Given the description of an element on the screen output the (x, y) to click on. 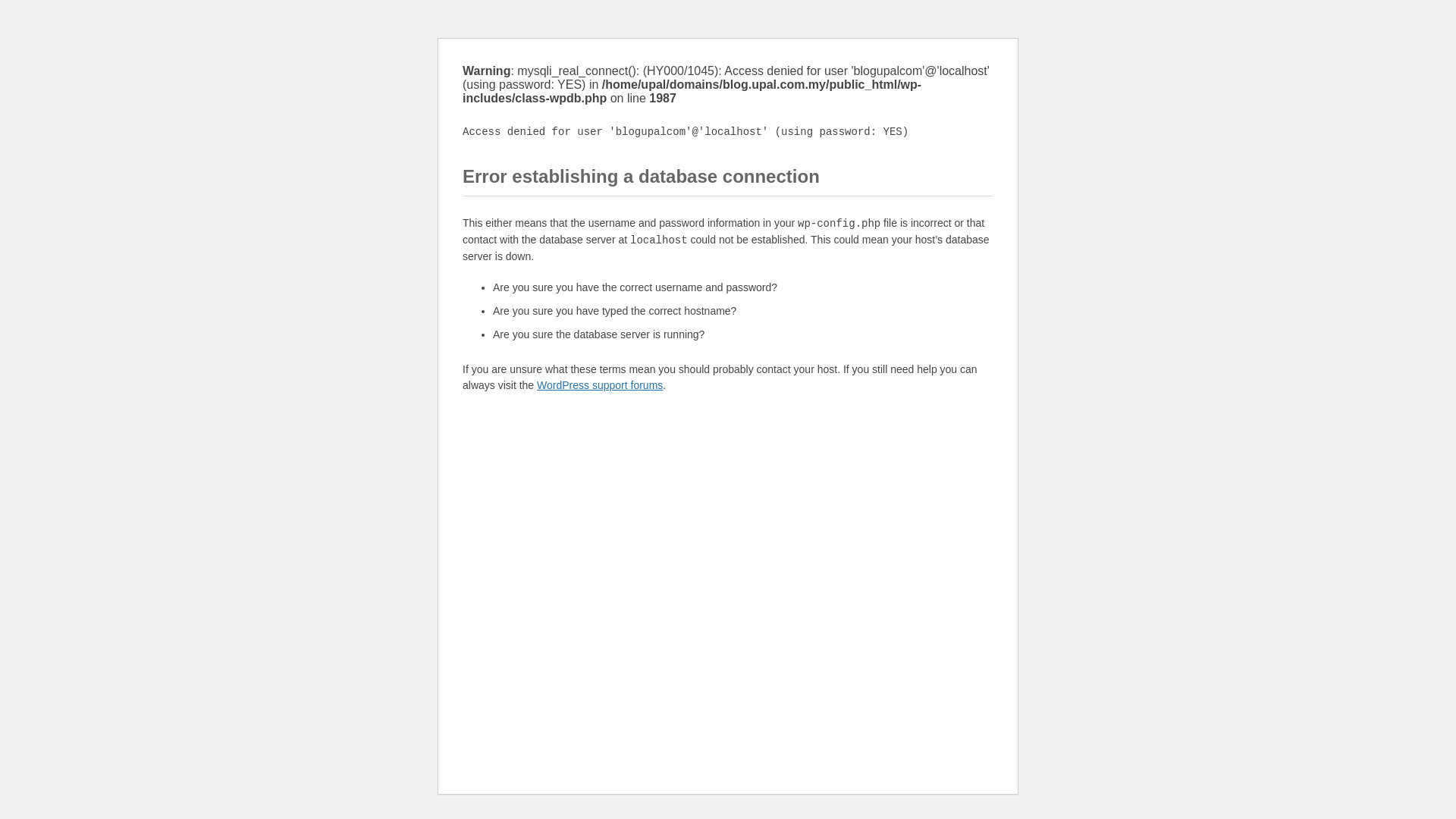
WordPress support forums (599, 385)
